Given the description of an element on the screen output the (x, y) to click on. 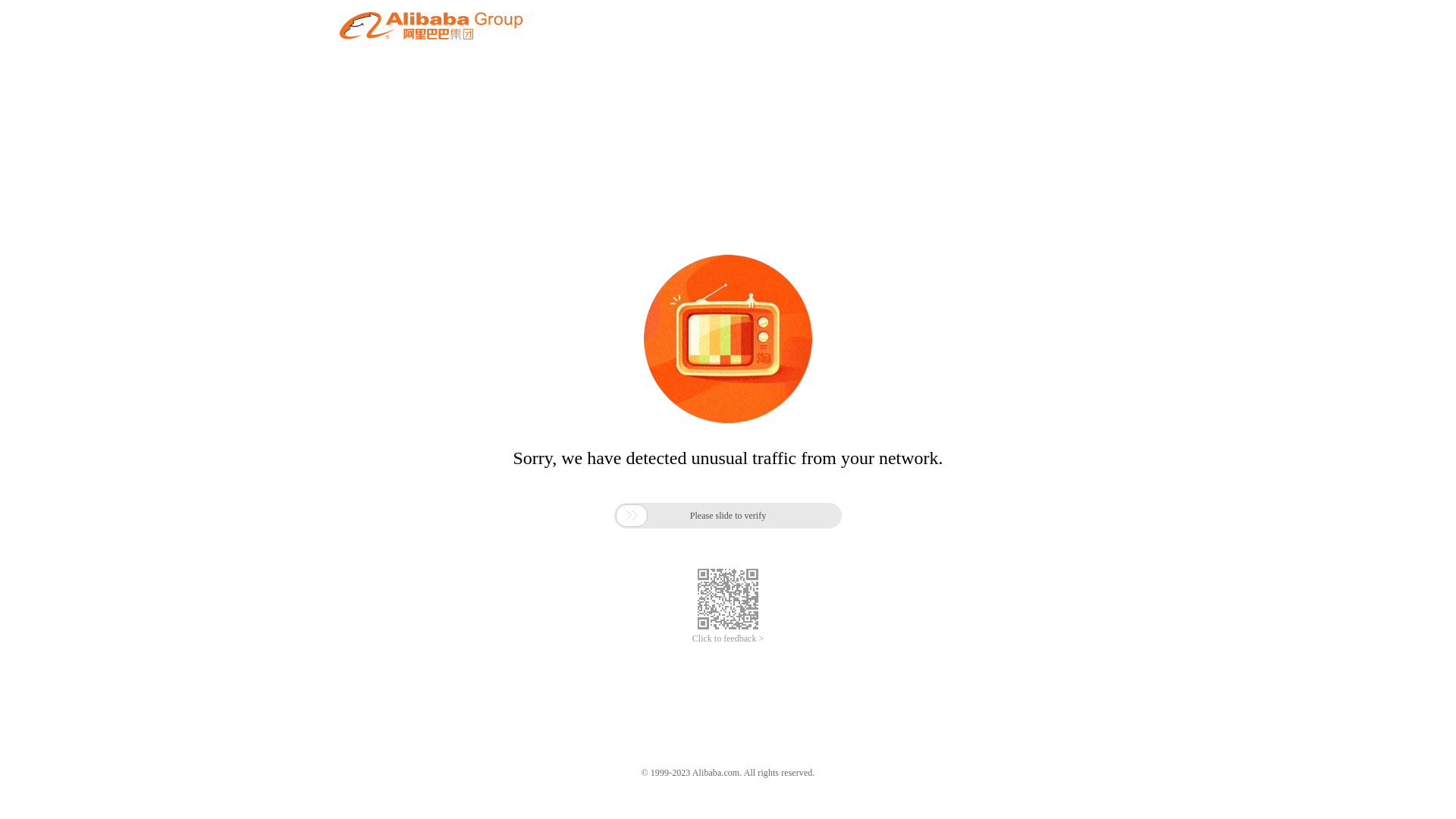
Click to feedback > Element type: text (727, 638)
